Given the description of an element on the screen output the (x, y) to click on. 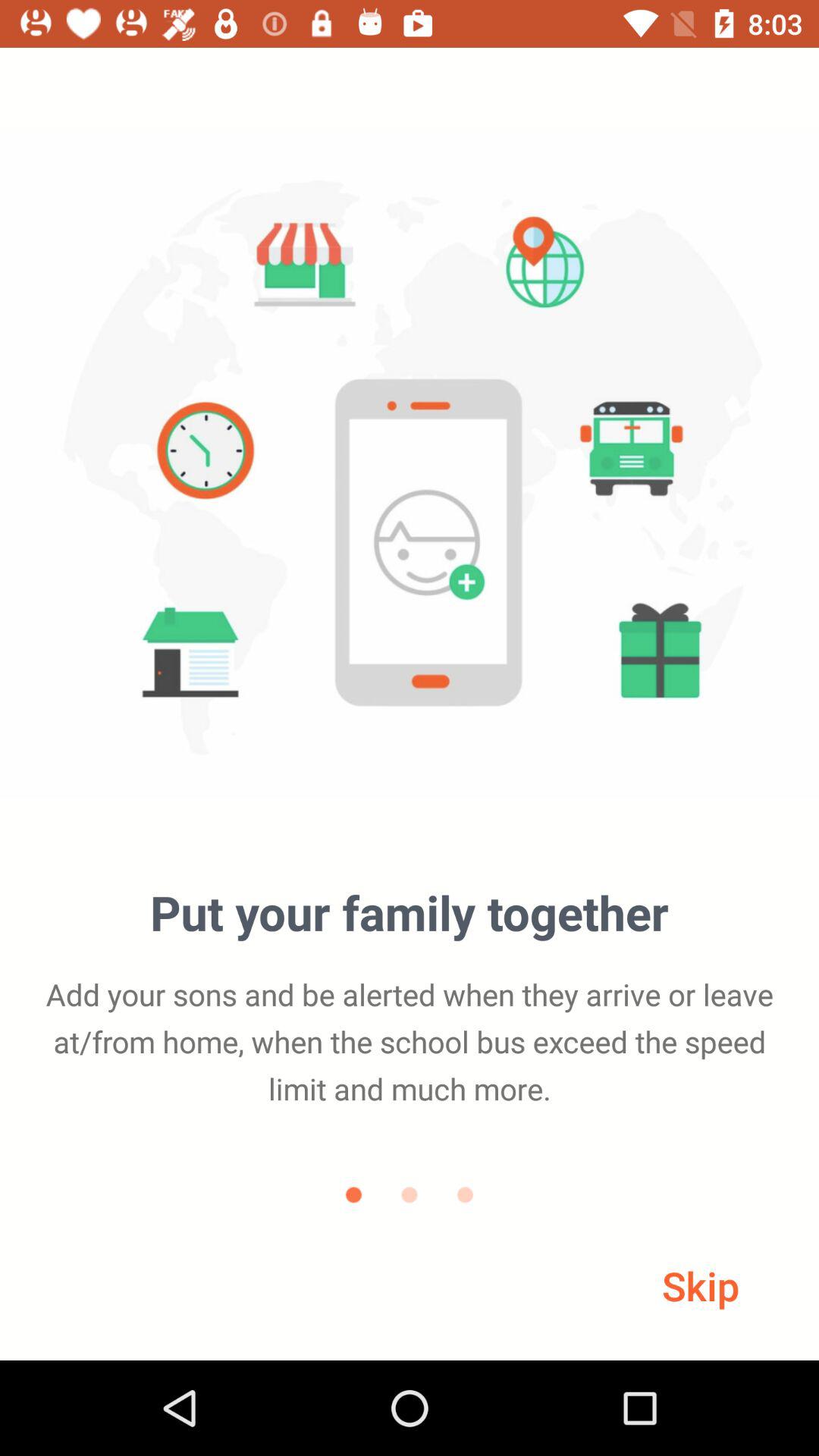
turn on the icon at the bottom right corner (700, 1285)
